Given the description of an element on the screen output the (x, y) to click on. 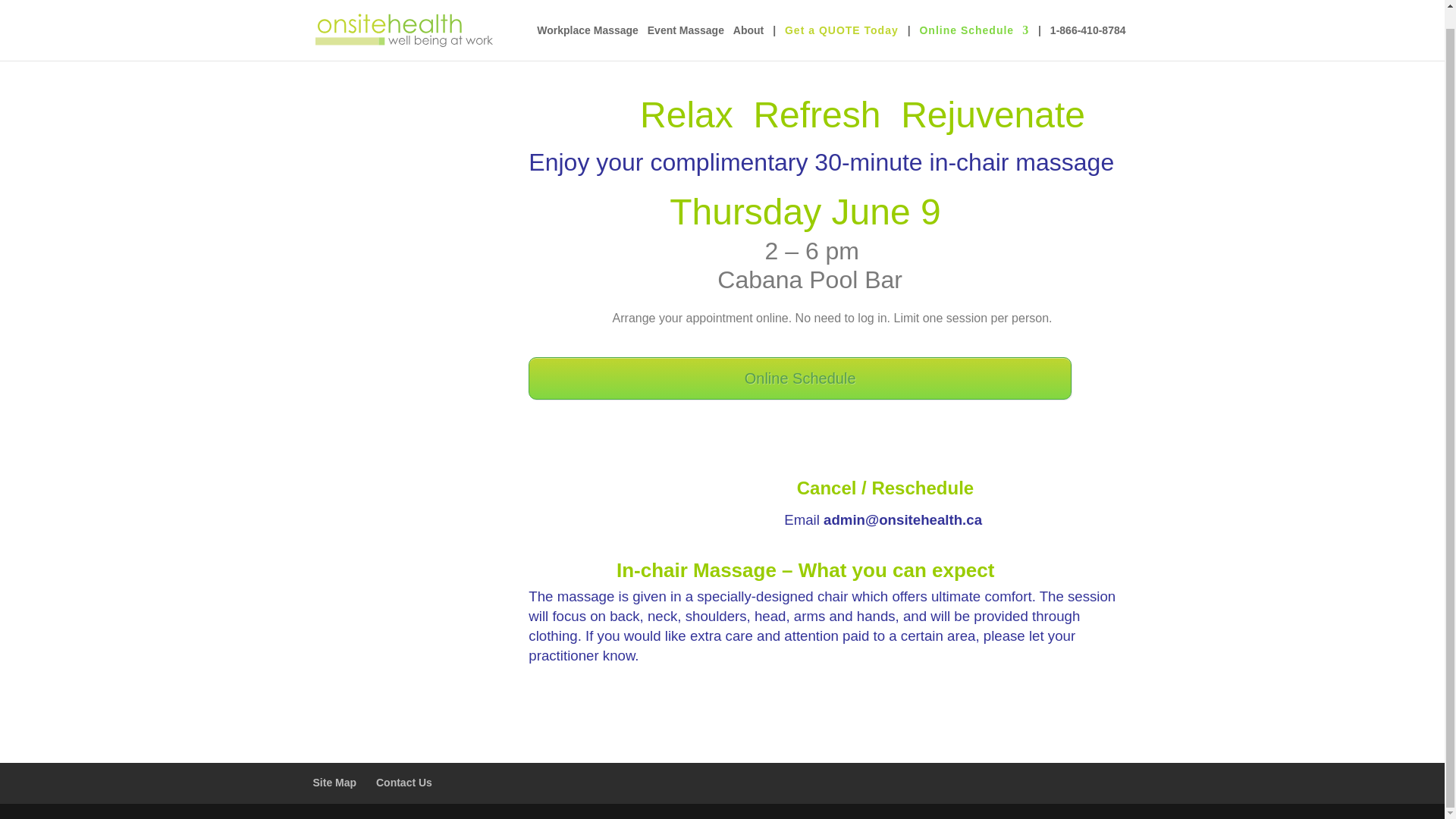
Event Massage (685, 24)
Online Schedule (973, 24)
Site Map (334, 782)
Contact Us (403, 782)
1-866-410-8784 (1087, 24)
Workplace Massage (588, 24)
Online Schedule (799, 378)
Get a QUOTE Today (841, 24)
